Given the description of an element on the screen output the (x, y) to click on. 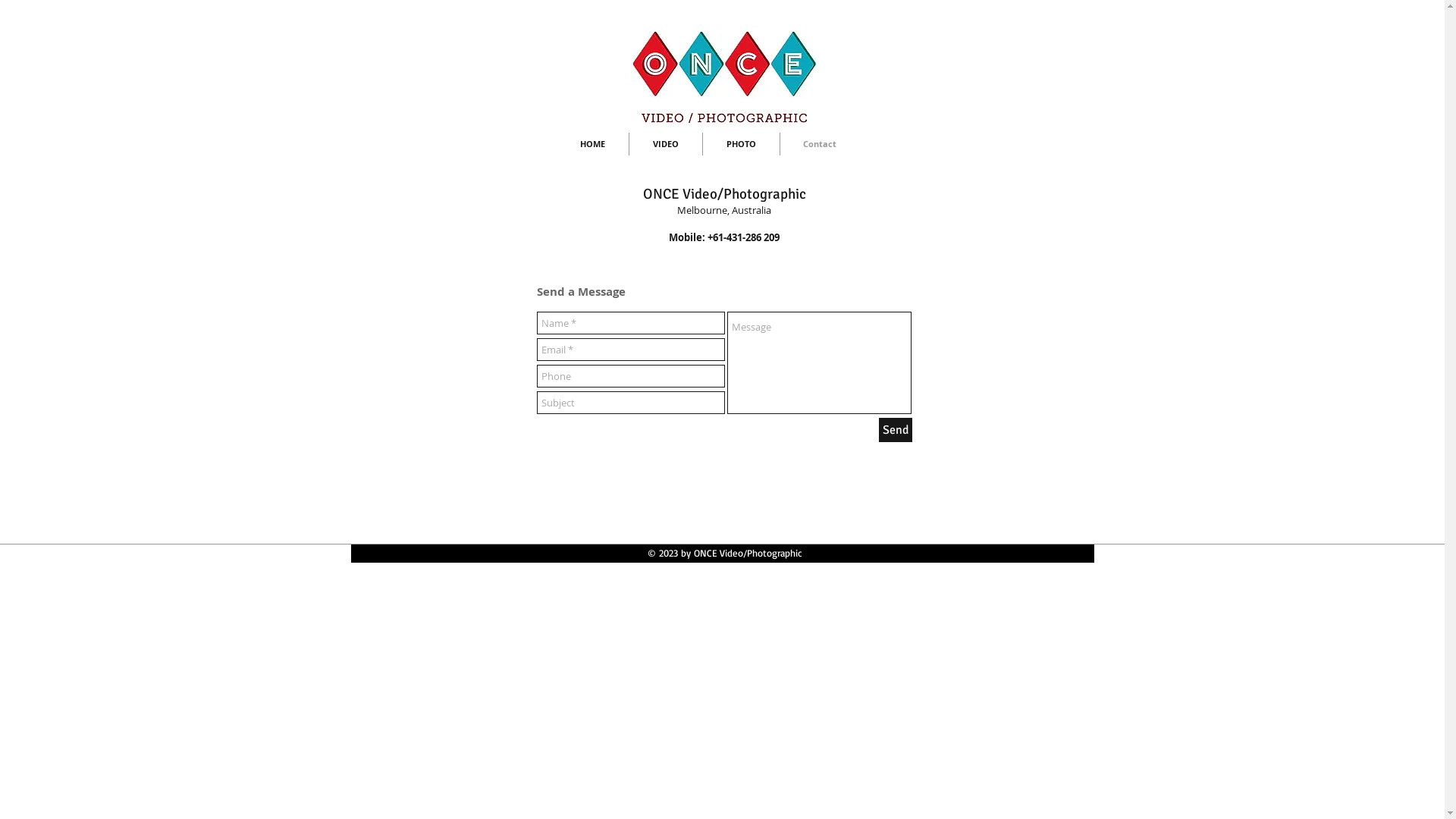
Send Element type: text (894, 429)
Contact Element type: text (819, 143)
HOME Element type: text (592, 143)
